Given the description of an element on the screen output the (x, y) to click on. 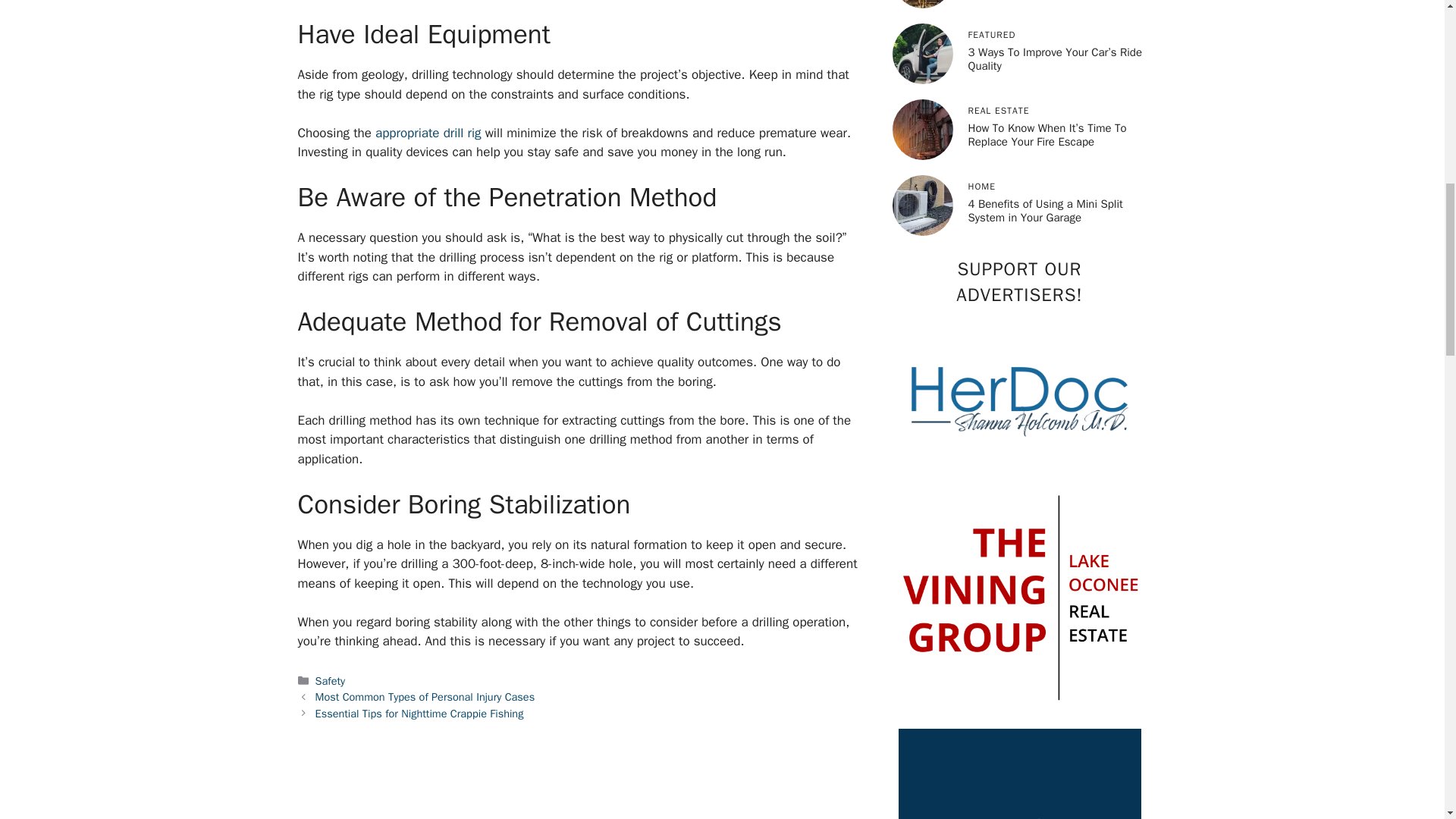
Safety (330, 680)
Vining-Group (1019, 595)
4 Benefits of Using a Mini Split System in Your Garage (1045, 210)
appropriate drill rig (428, 132)
Most Common Types of Personal Injury Cases (425, 696)
Essential Tips for Nighttime Crappie Fishing (419, 713)
HerDoc (1019, 397)
